Given the description of an element on the screen output the (x, y) to click on. 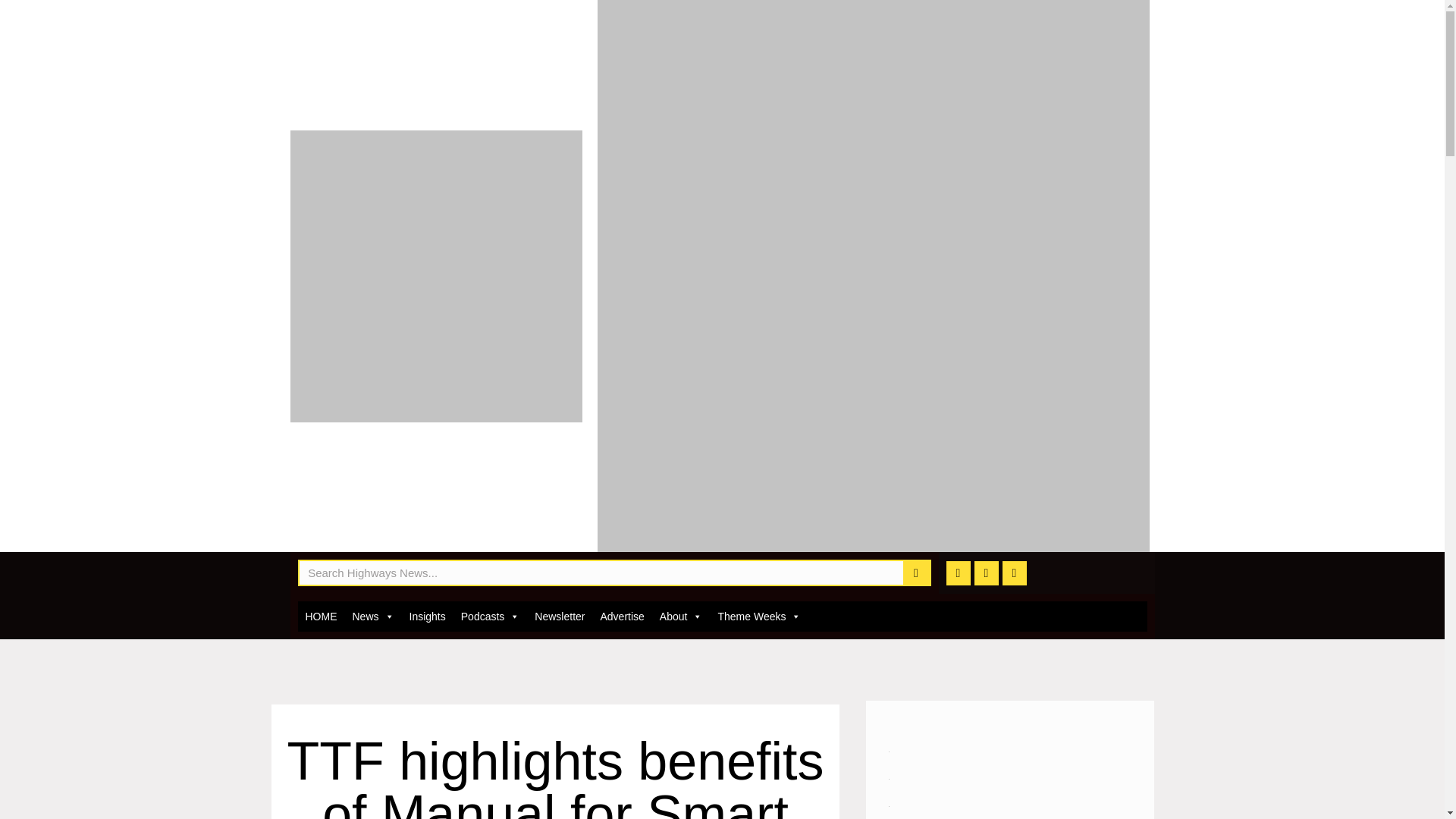
Insights (426, 616)
HOME (320, 616)
Theme Weeks (759, 616)
Podcasts (489, 616)
Newsletter (559, 616)
News (372, 616)
Advertise (622, 616)
About (681, 616)
